Given the description of an element on the screen output the (x, y) to click on. 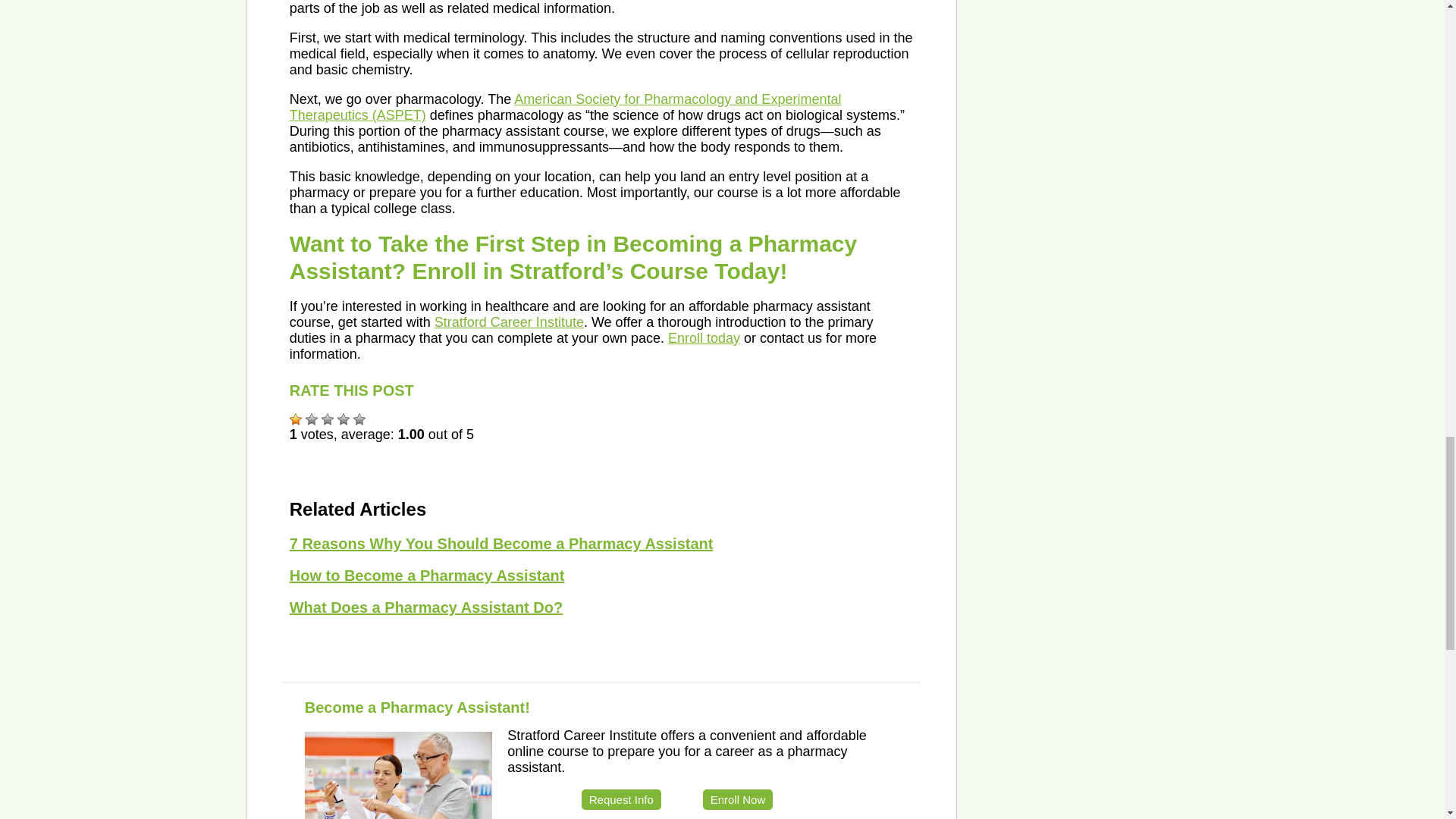
What Does a Pharmacy Assistant Do? (425, 606)
Stratford Career Institute (508, 322)
1 Star (295, 419)
Enroll today (703, 337)
Enroll Now (738, 799)
3 Stars (327, 419)
5 Stars (359, 419)
7 Reasons Why You Should Become a Pharmacy Assistant (501, 543)
4 Stars (343, 419)
2 Stars (311, 419)
How to Become a Pharmacy Assistant (426, 575)
Request Info (620, 799)
